Given the description of an element on the screen output the (x, y) to click on. 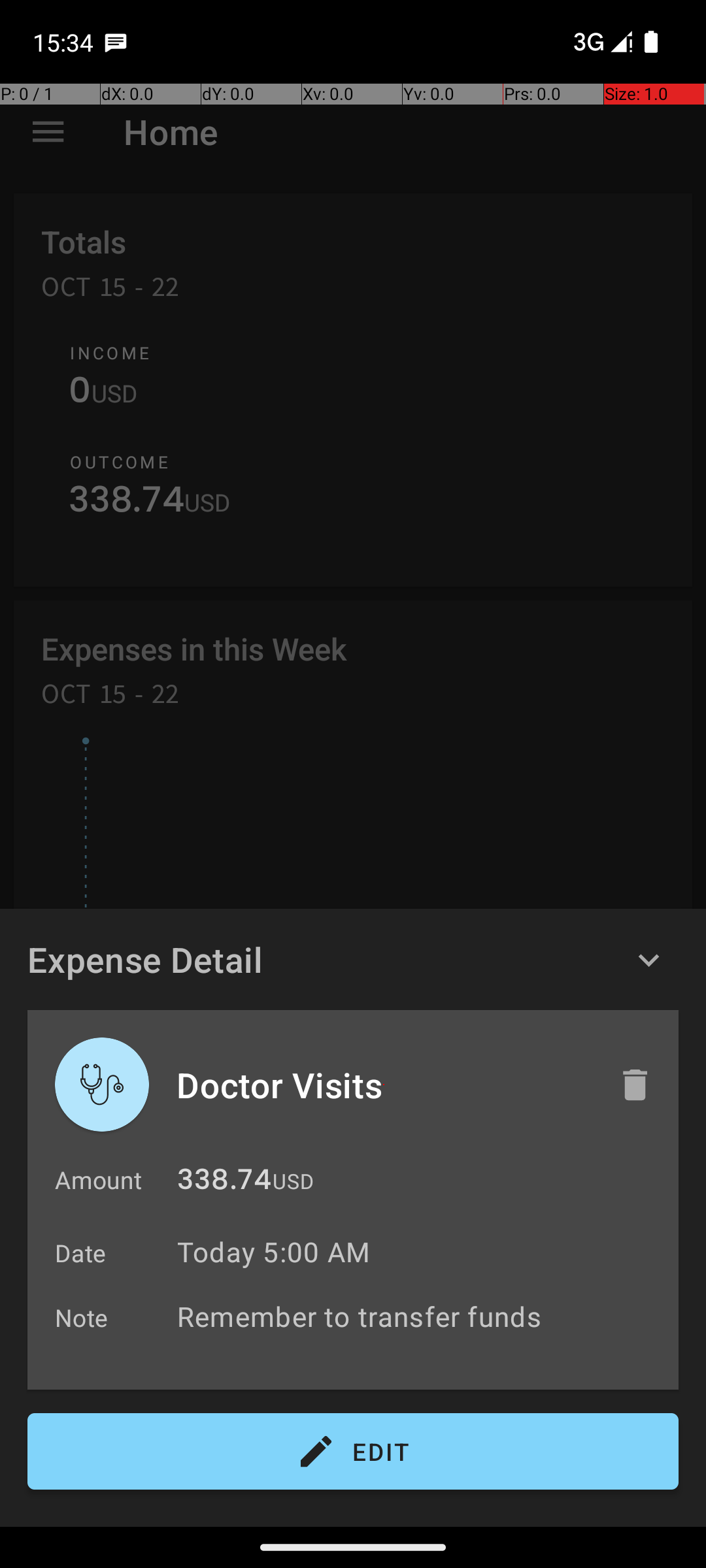
Expense Detail Element type: android.widget.TextView (145, 959)
Doctor Visits Element type: android.widget.TextView (383, 1084)
Amount Element type: android.widget.TextView (97, 1179)
338.74 Element type: android.widget.TextView (223, 1182)
Date Element type: android.widget.TextView (80, 1252)
Today 5:00 AM Element type: android.widget.TextView (273, 1251)
Note Element type: android.widget.TextView (81, 1317)
Remember to transfer funds Element type: android.widget.TextView (420, 1315)
EDIT Element type: android.widget.Button (352, 1451)
